Given the description of an element on the screen output the (x, y) to click on. 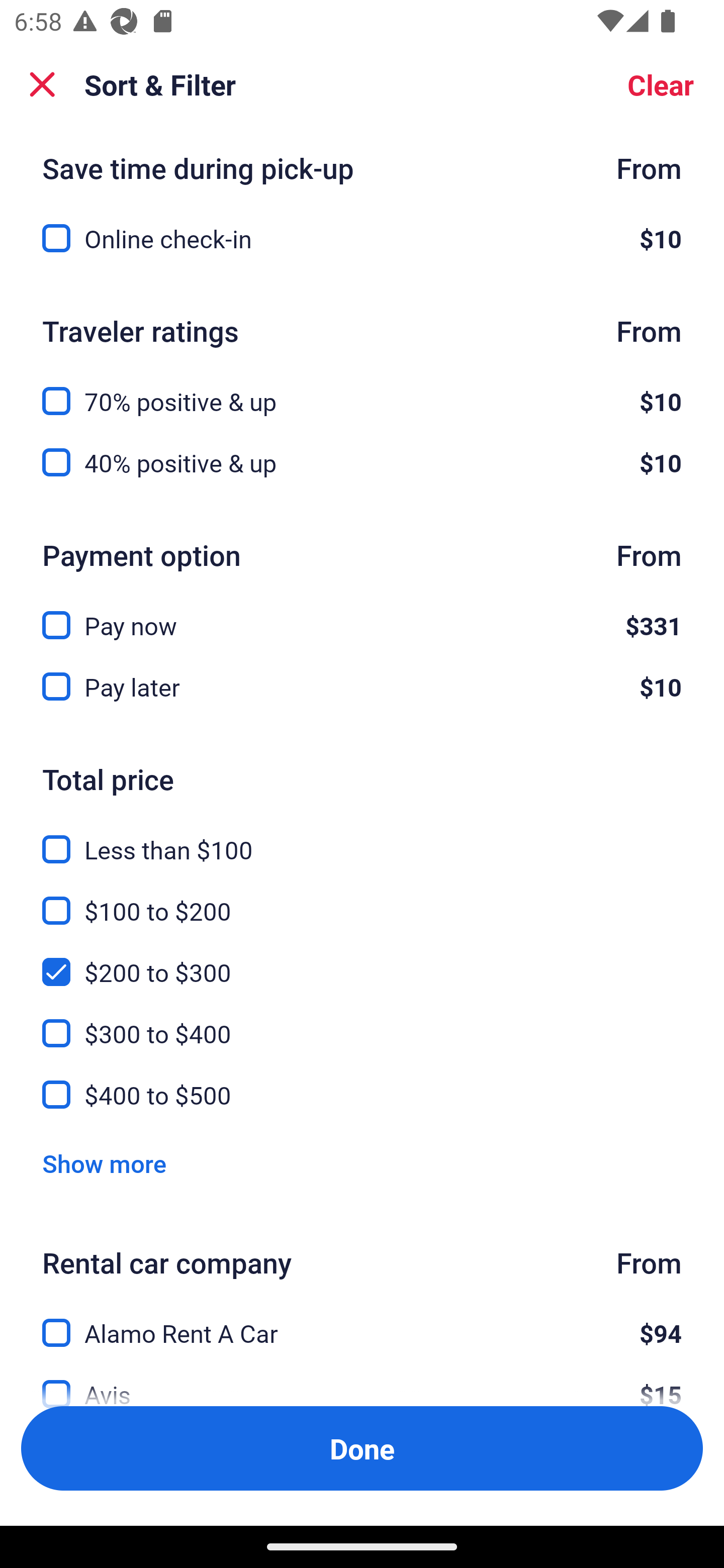
Close Sort and Filter (42, 84)
Clear (660, 84)
Online check-in, $10 Online check-in $10 (361, 238)
70% positive & up, $10 70% positive & up $10 (361, 389)
40% positive & up, $10 40% positive & up $10 (361, 462)
Pay now, $331 Pay now $331 (361, 613)
Pay later, $10 Pay later $10 (361, 686)
Less than $100, Less than $100 (361, 837)
$100 to $200, $100 to $200 (361, 898)
$200 to $300, $200 to $300 (361, 959)
$300 to $400, $300 to $400 (361, 1021)
$400 to $500, $400 to $500 (361, 1094)
Show more Show more Link (103, 1163)
Alamo Rent A Car, $94 Alamo Rent A Car $94 (361, 1320)
Apply and close Sort and Filter Done (361, 1448)
